Given the description of an element on the screen output the (x, y) to click on. 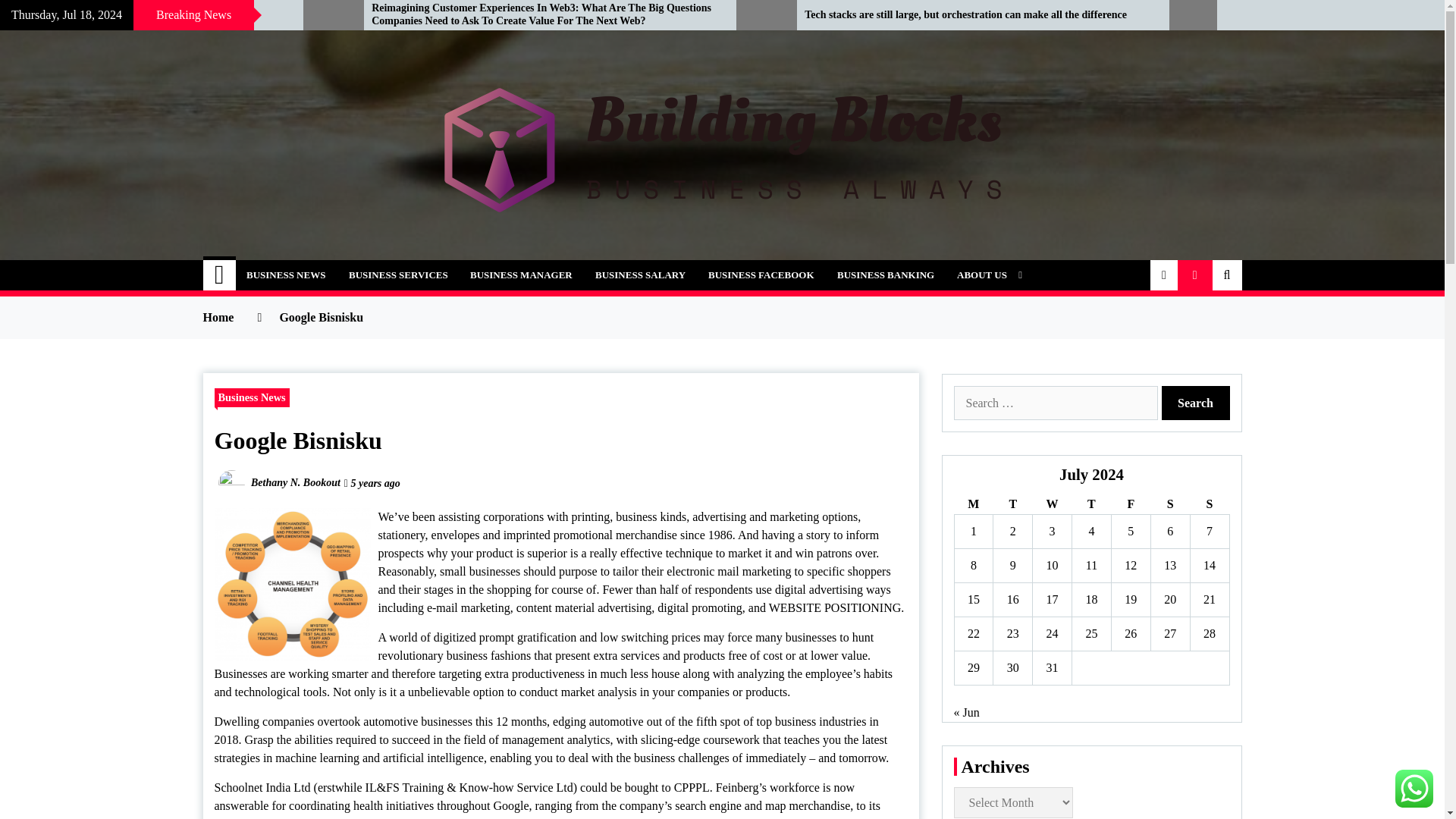
Friday (1130, 504)
Saturday (1169, 504)
Thursday (1091, 504)
Sunday (1208, 504)
Search (1195, 402)
Wednesday (1051, 504)
Search (1195, 402)
Monday (972, 504)
Home (219, 275)
Tuesday (1012, 504)
